Given the description of an element on the screen output the (x, y) to click on. 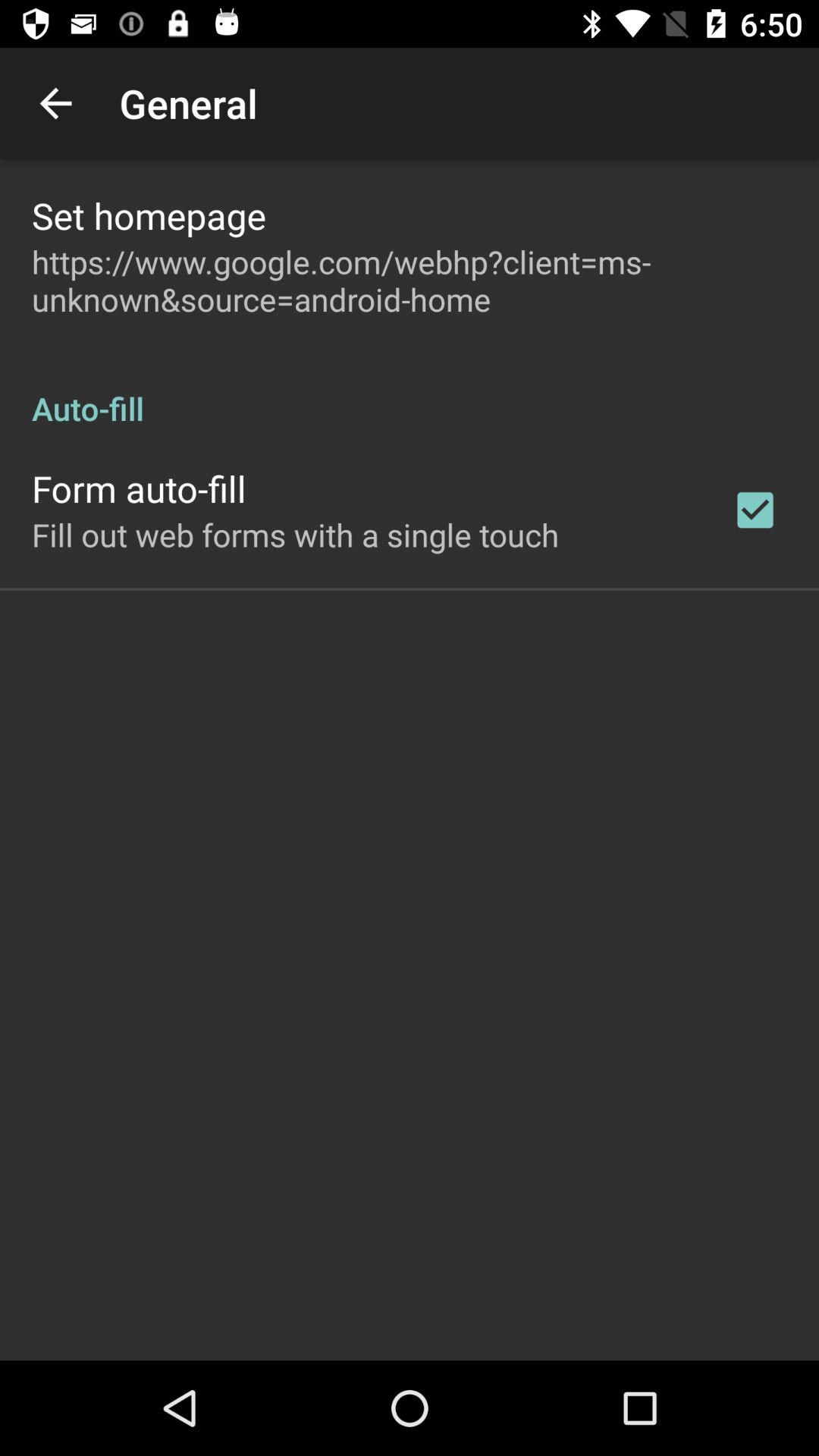
jump to set homepage icon (148, 215)
